Given the description of an element on the screen output the (x, y) to click on. 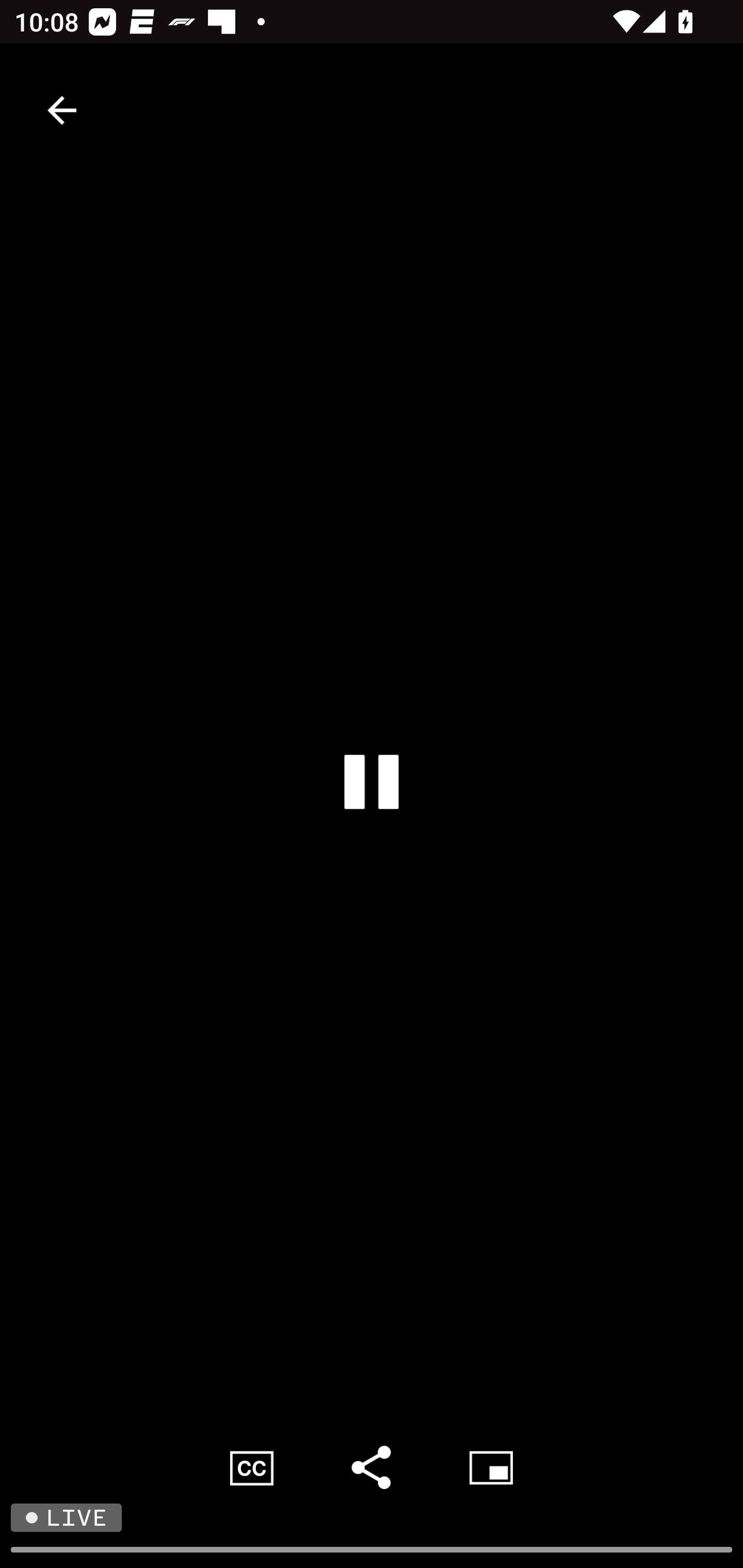
Back (61, 110)
Pause (371, 781)
Closed Captions, ON (251, 1467)
Share Media (371, 1467)
Picture in Picture Media (490, 1467)
